Given the description of an element on the screen output the (x, y) to click on. 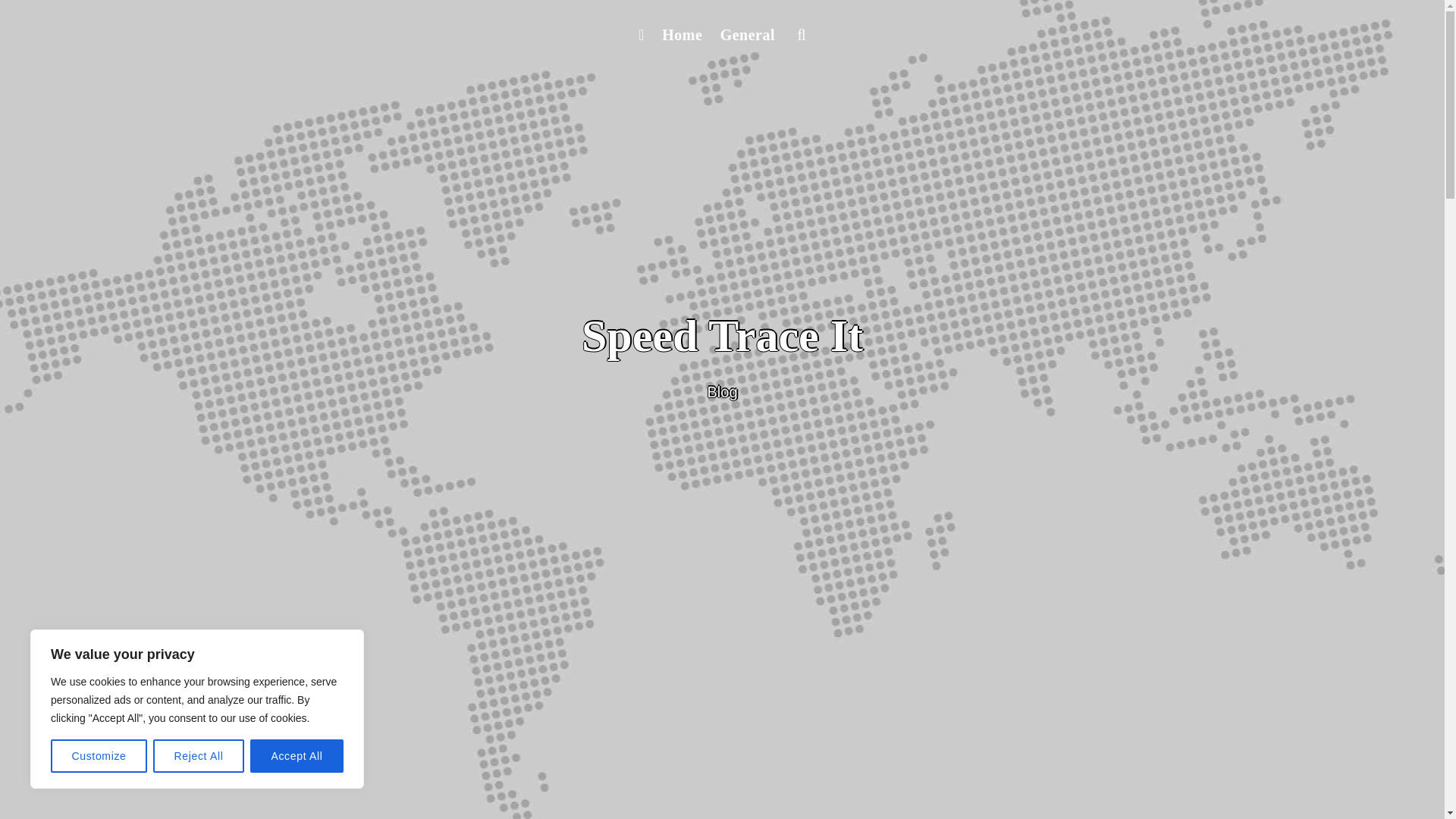
General (747, 35)
Home (681, 35)
Customize (98, 756)
Accept All (296, 756)
Reject All (198, 756)
Speed Trace It (721, 336)
